Given the description of an element on the screen output the (x, y) to click on. 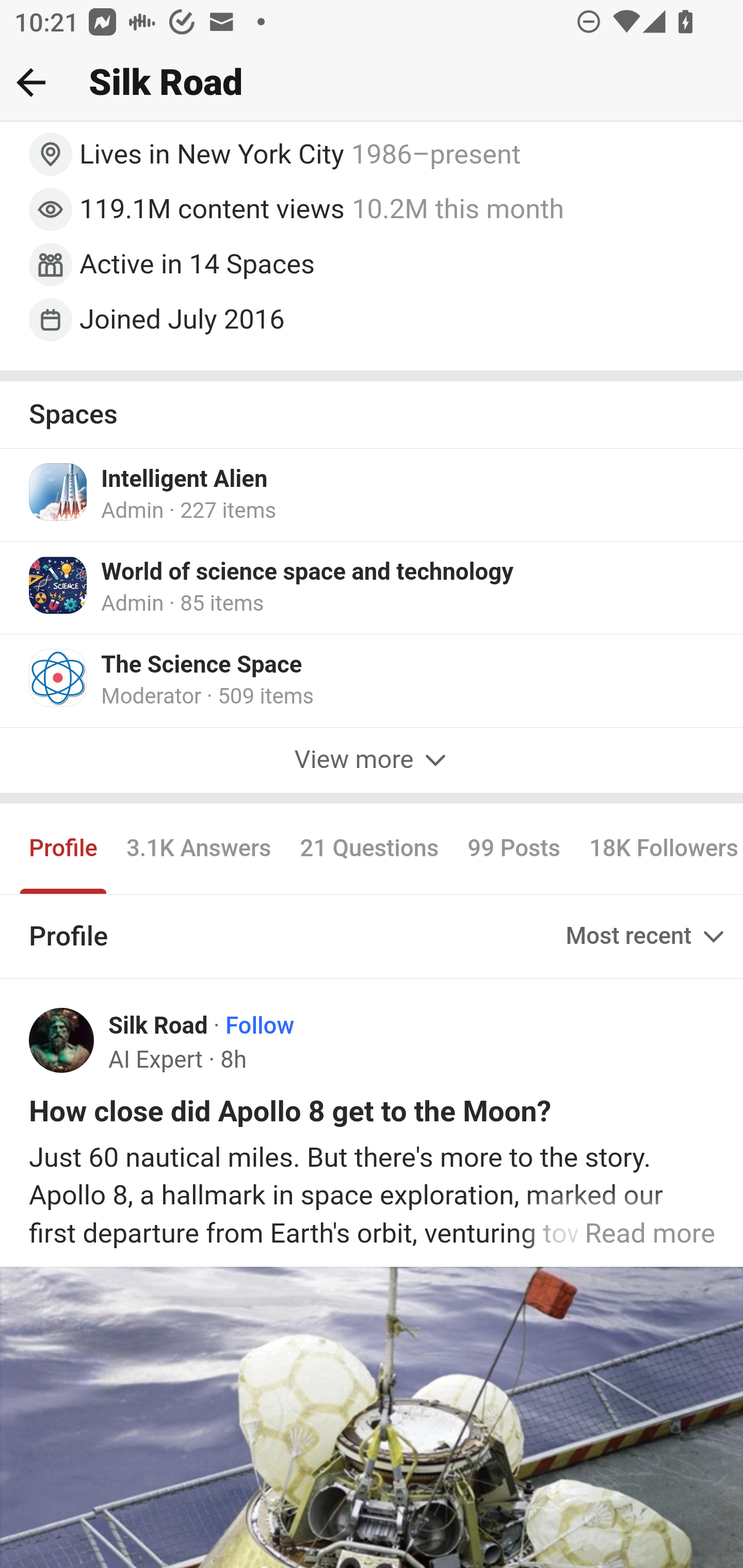
Back Silk Road (371, 82)
Back (30, 82)
Icon for Intelligent Alien (58, 492)
Intelligent Alien (184, 480)
Icon for World of science space and technology (58, 586)
World of science space and technology (307, 573)
Icon for The Science Space (58, 678)
The Science Space (202, 667)
View more (371, 760)
Profile (63, 849)
3.1K Answers (197, 849)
21 Questions (369, 849)
99 Posts (513, 849)
18K Followers (658, 849)
Most recent (647, 937)
Profile photo for Silk Road (61, 1041)
Silk Road (158, 1026)
Follow (259, 1026)
